Given the description of an element on the screen output the (x, y) to click on. 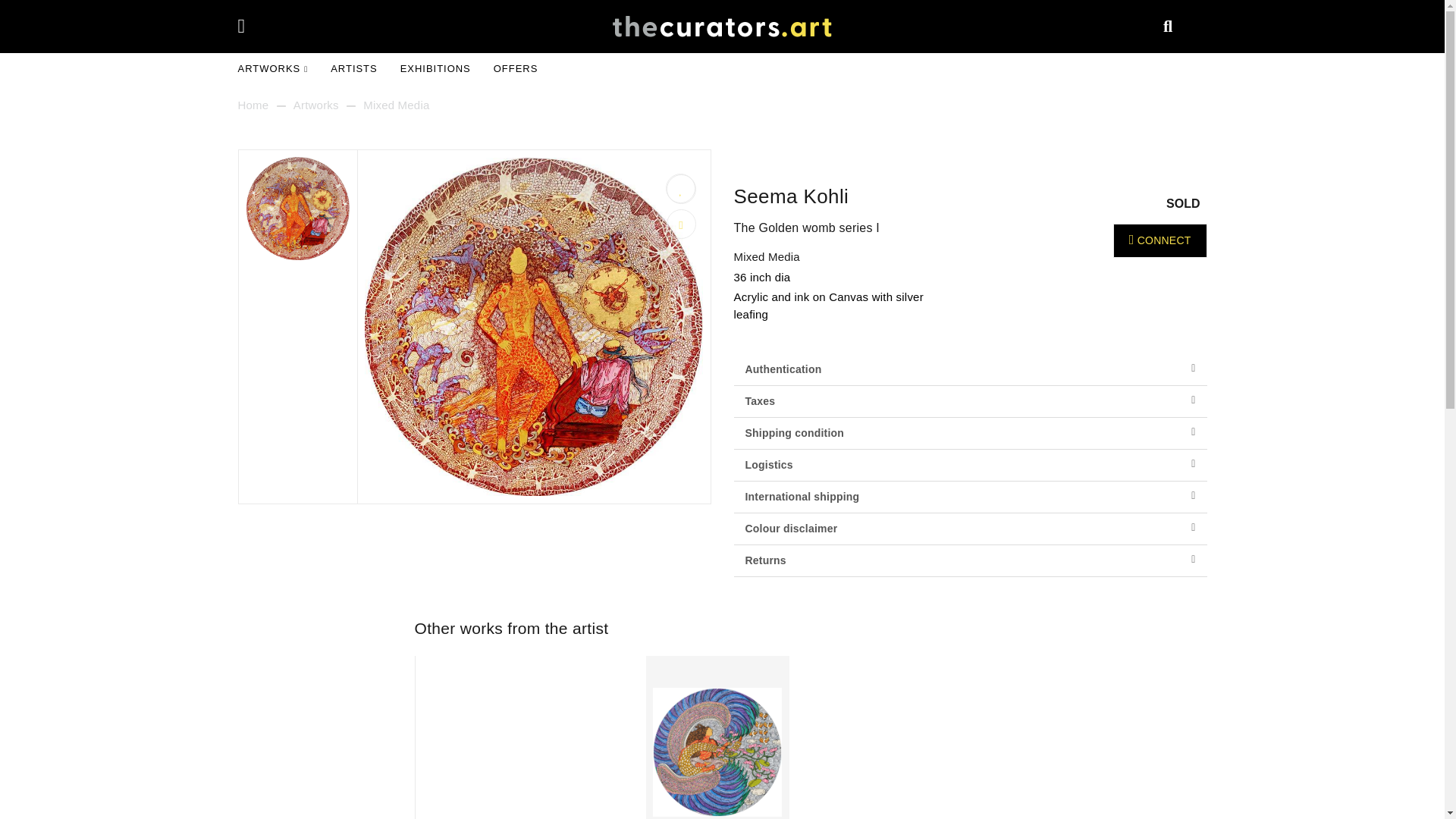
Home (253, 105)
Mixed Media (395, 105)
Artworks (316, 105)
Add to Wishlist (680, 188)
Mixed Media (766, 256)
